Given the description of an element on the screen output the (x, y) to click on. 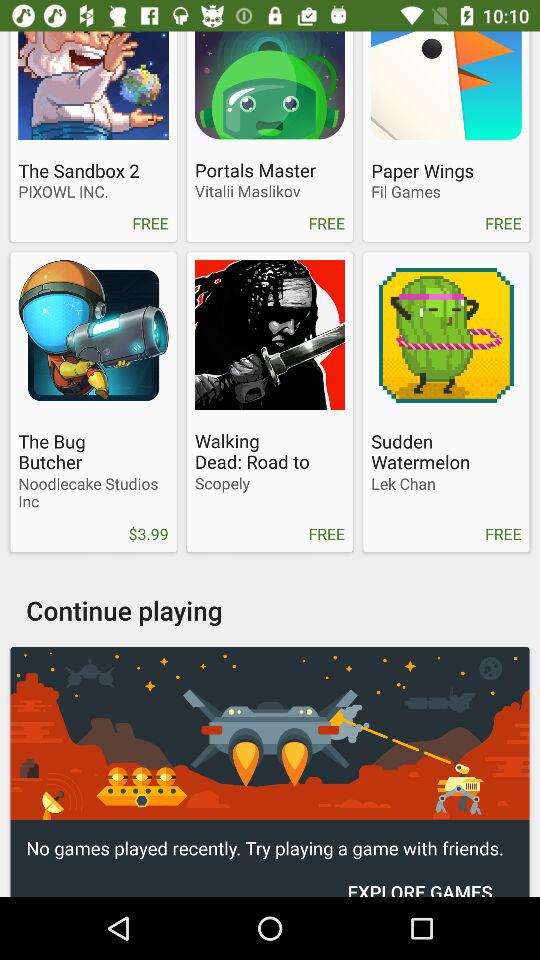
open item below no games played icon (419, 878)
